Given the description of an element on the screen output the (x, y) to click on. 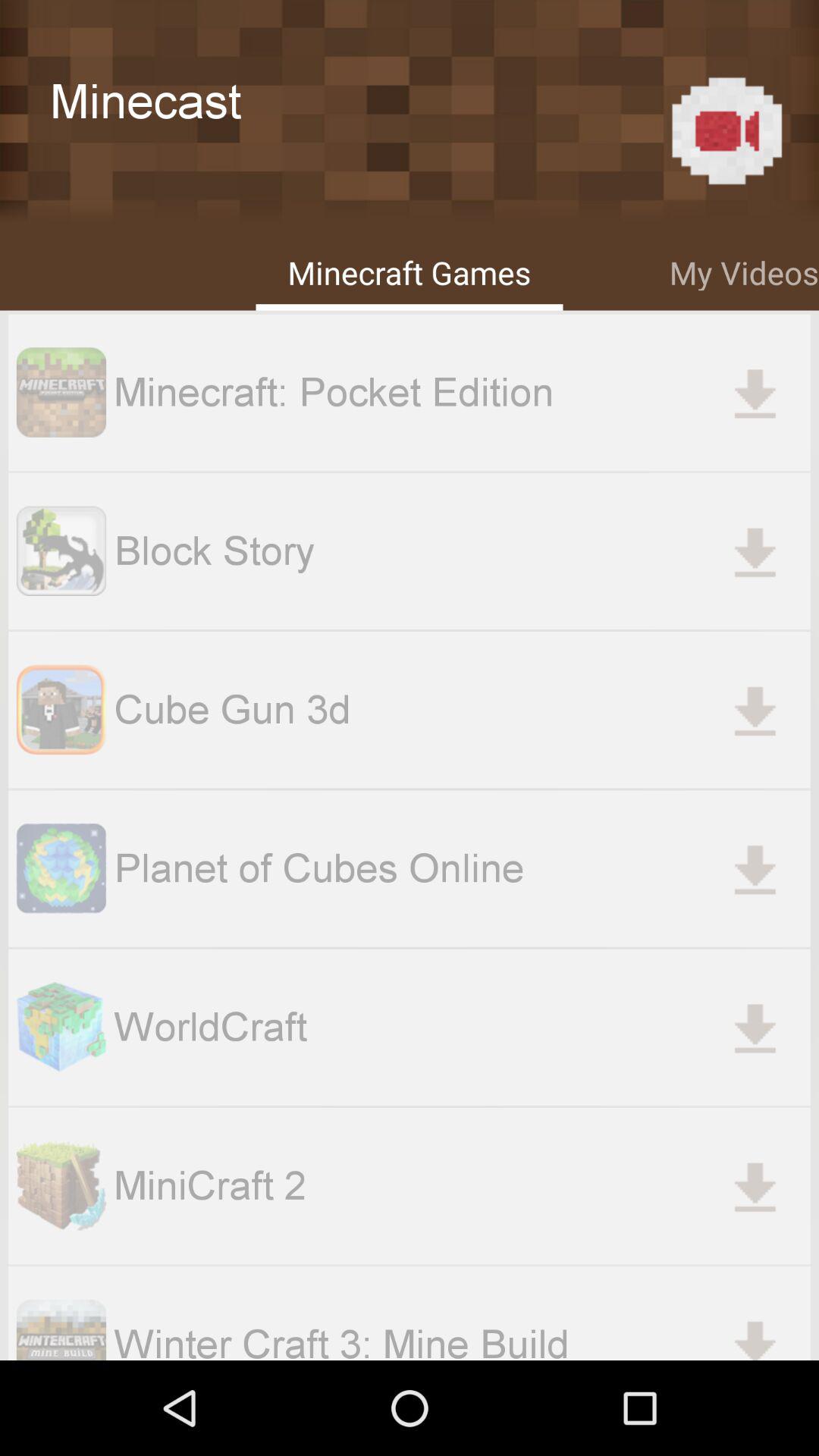
jump until worldcraft item (462, 1026)
